Given the description of an element on the screen output the (x, y) to click on. 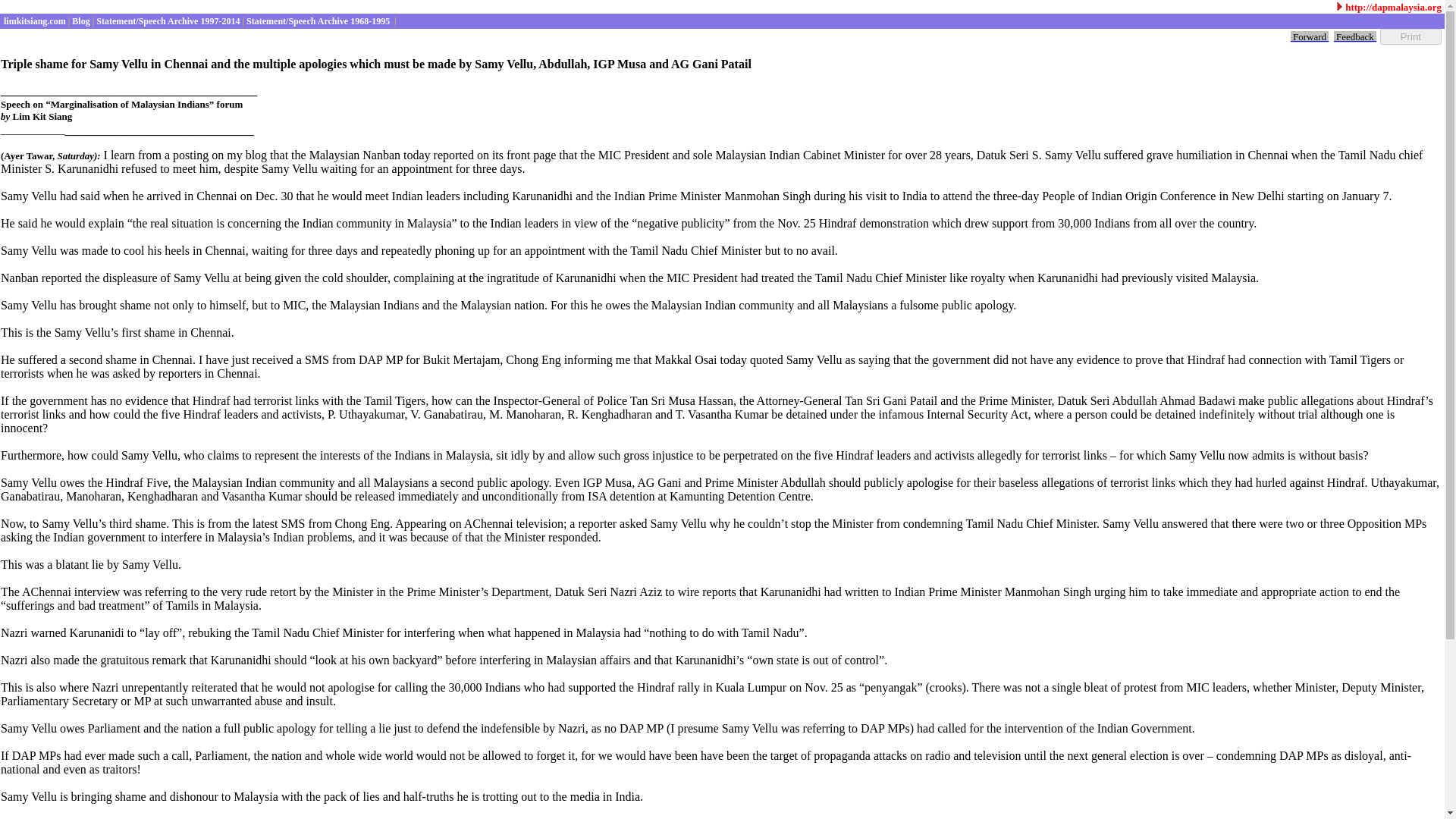
     Print      (1410, 36)
 limkitsiang.com (33, 20)
 Blog (78, 20)
Forward (1309, 36)
 Feedback (1354, 36)
